Given the description of an element on the screen output the (x, y) to click on. 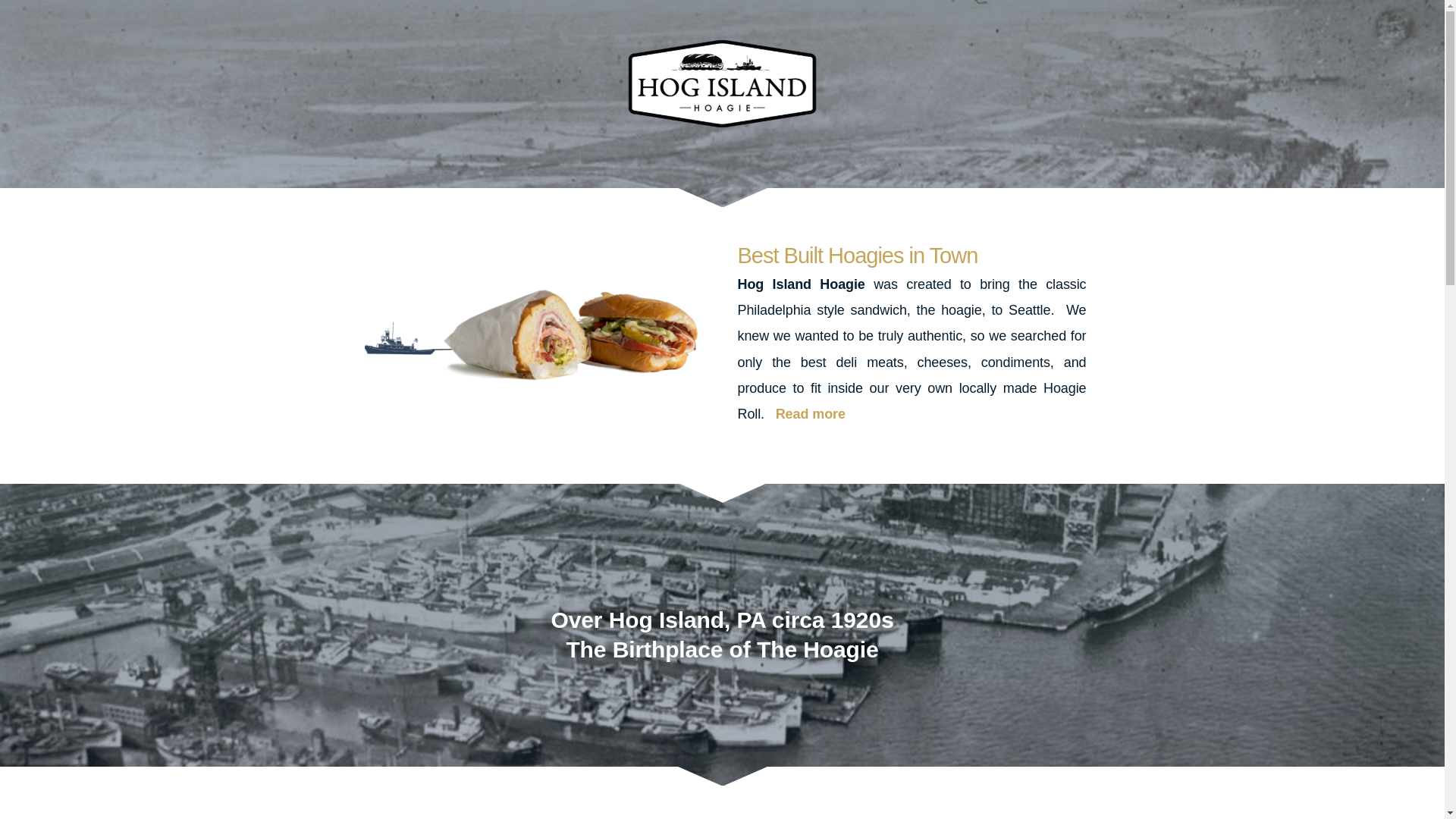
Read more (810, 413)
